Given the description of an element on the screen output the (x, y) to click on. 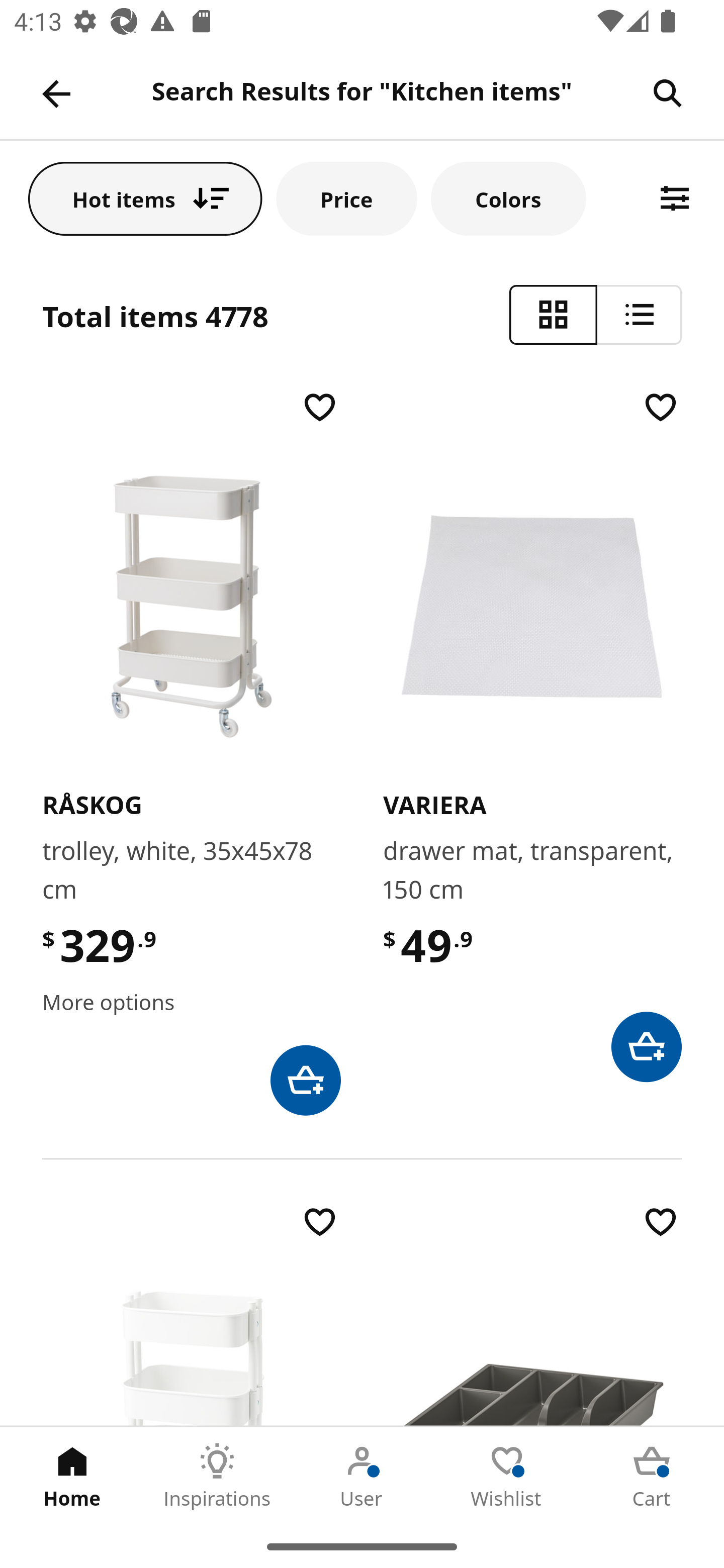
Hot items (145, 198)
Price (346, 198)
Colors (508, 198)
Home
Tab 1 of 5 (72, 1476)
Inspirations
Tab 2 of 5 (216, 1476)
User
Tab 3 of 5 (361, 1476)
Wishlist
Tab 4 of 5 (506, 1476)
Cart
Tab 5 of 5 (651, 1476)
